Given the description of an element on the screen output the (x, y) to click on. 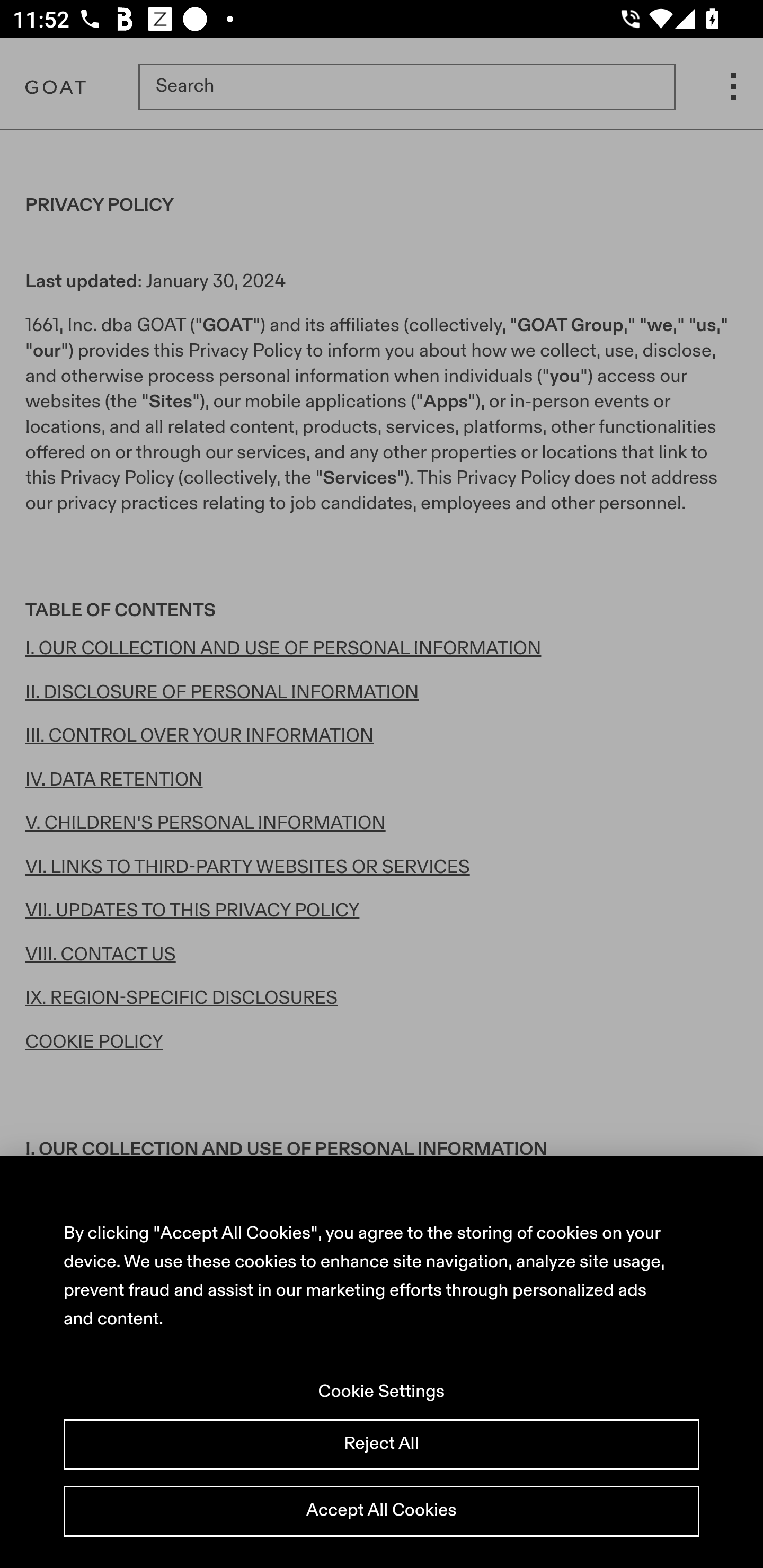
Cookie Settings (381, 1392)
Reject All (381, 1444)
Accept All Cookies (381, 1511)
